Given the description of an element on the screen output the (x, y) to click on. 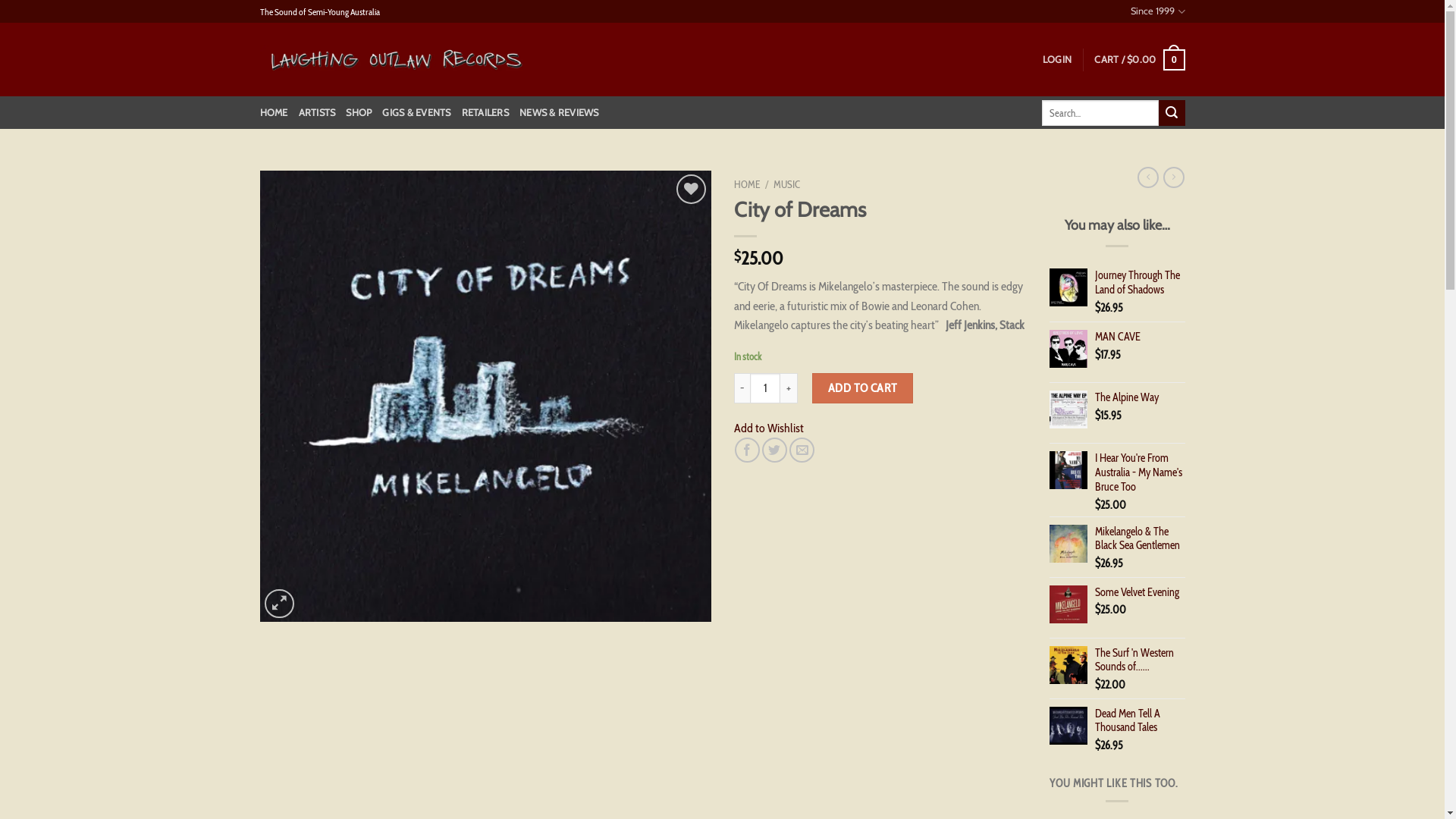
MUSIC Element type: text (786, 184)
Mikelangelo & The Black Sea Gentlemen Element type: text (1139, 538)
Email to a Friend Element type: hover (801, 449)
Laughing Outlaw Records - records and management Element type: hover (395, 59)
LOGIN Element type: text (1056, 59)
GIGS & EVENTS Element type: text (416, 112)
NEWS & REVIEWS Element type: text (559, 112)
Journey Through The Land of Shadows Element type: text (1139, 282)
RETAILERS Element type: text (484, 112)
I Hear You're From Australia - My Name's Bruce Too Element type: text (1139, 472)
ARTISTS Element type: text (316, 112)
ADD TO CART Element type: text (862, 388)
Since 1999 Element type: text (1157, 11)
The Surf 'n Western Sounds of...... Element type: text (1139, 660)
Dead Men Tell A Thousand Tales Element type: text (1139, 720)
The Alpine Way Element type: text (1139, 397)
Search Element type: text (1171, 112)
Some Velvet Evening Element type: text (1139, 592)
Mikel CityDreams_CD Element type: hover (484, 395)
CART / $0.00
0 Element type: text (1139, 59)
Zoom Element type: hover (279, 603)
Share on Facebook Element type: hover (746, 449)
Add to Wishlist Element type: text (768, 427)
HOME Element type: text (746, 184)
Share on Twitter Element type: hover (774, 449)
MAN CAVE Element type: text (1139, 336)
SHOP Element type: text (358, 112)
Qty Element type: hover (764, 388)
HOME Element type: text (273, 112)
